Given the description of an element on the screen output the (x, y) to click on. 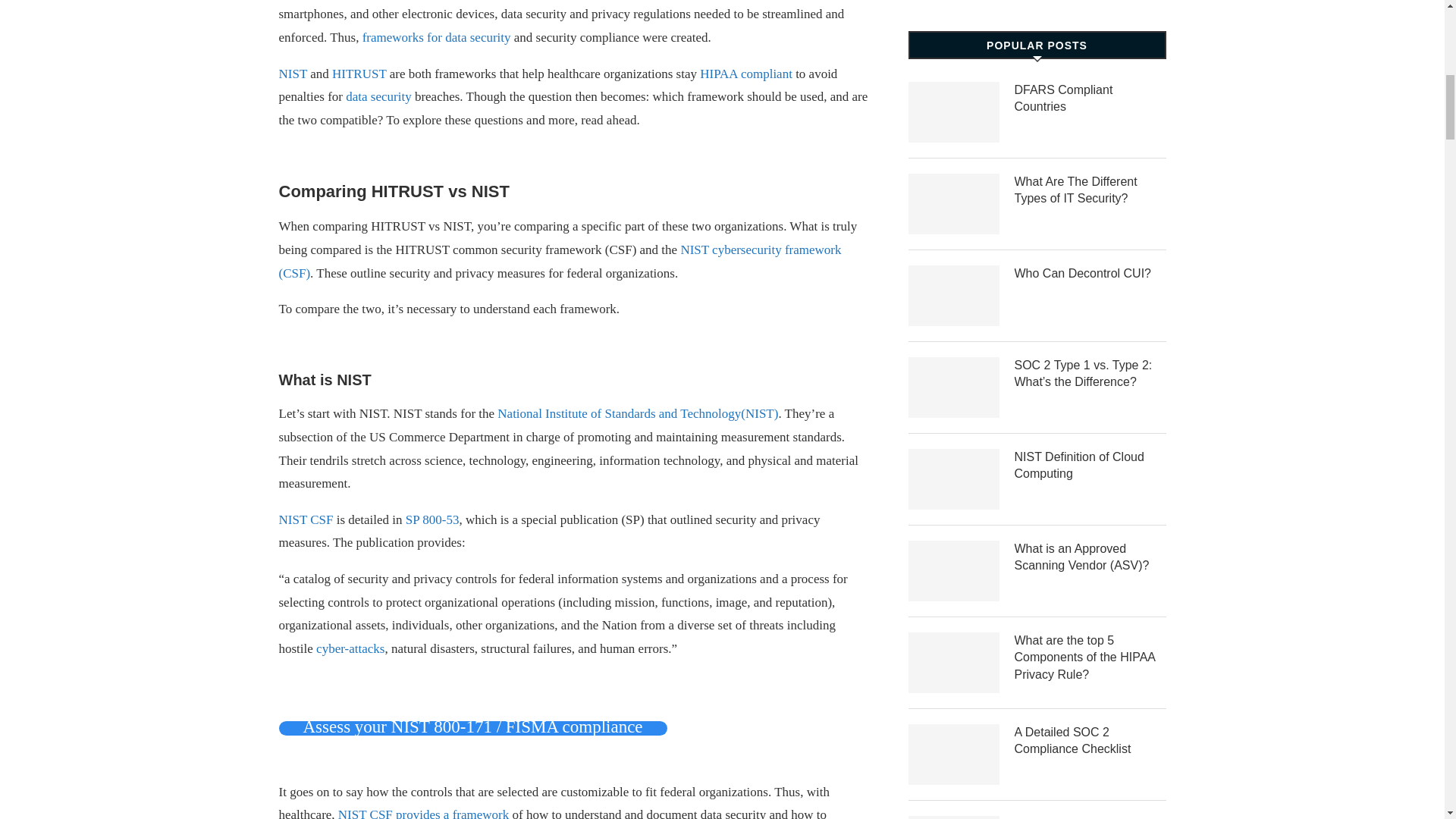
DFARS Compliant Countries (953, 111)
DFARS Compliant Countries (1090, 98)
